Given the description of an element on the screen output the (x, y) to click on. 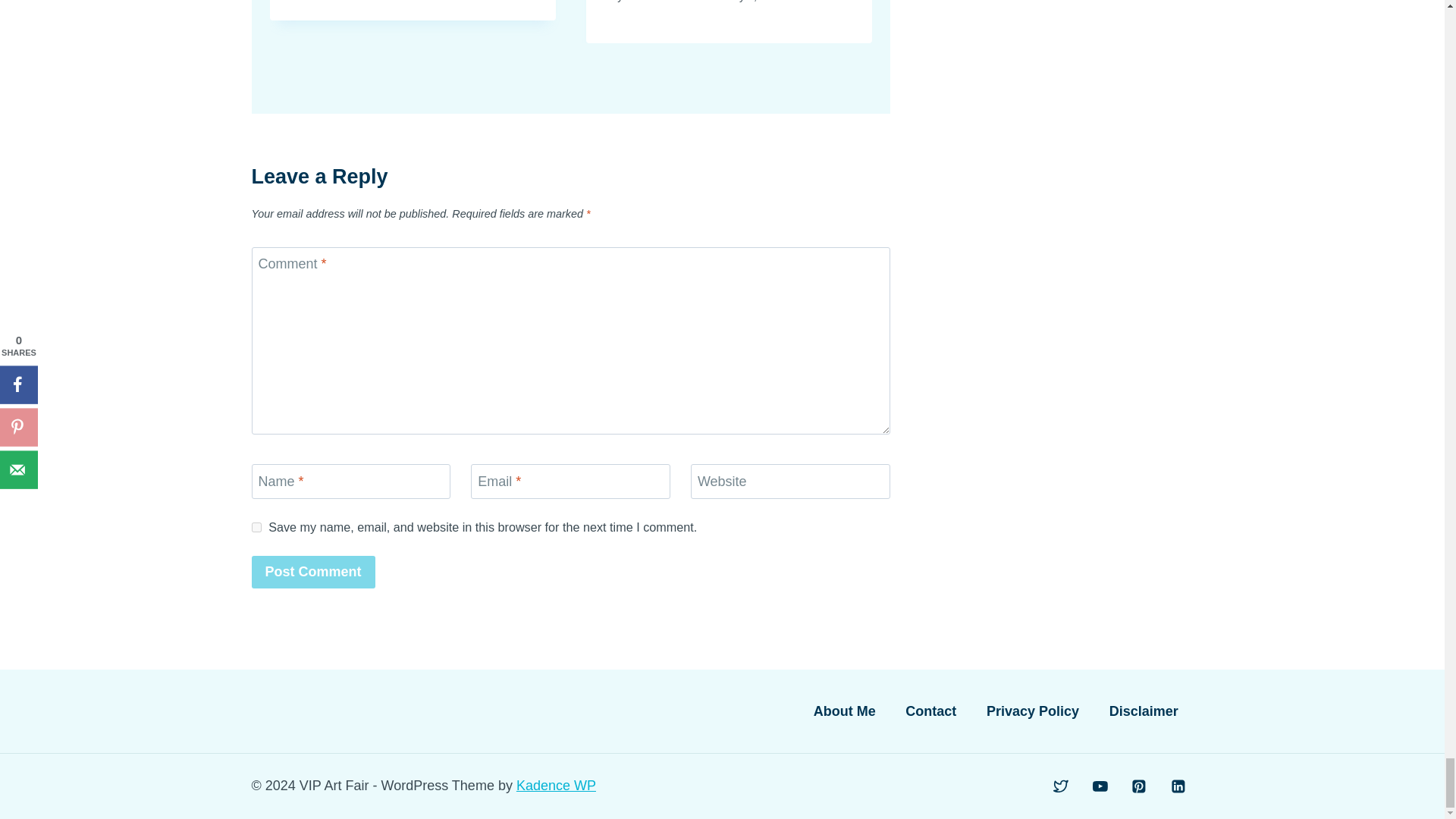
yes (256, 527)
Post Comment (313, 572)
